Given the description of an element on the screen output the (x, y) to click on. 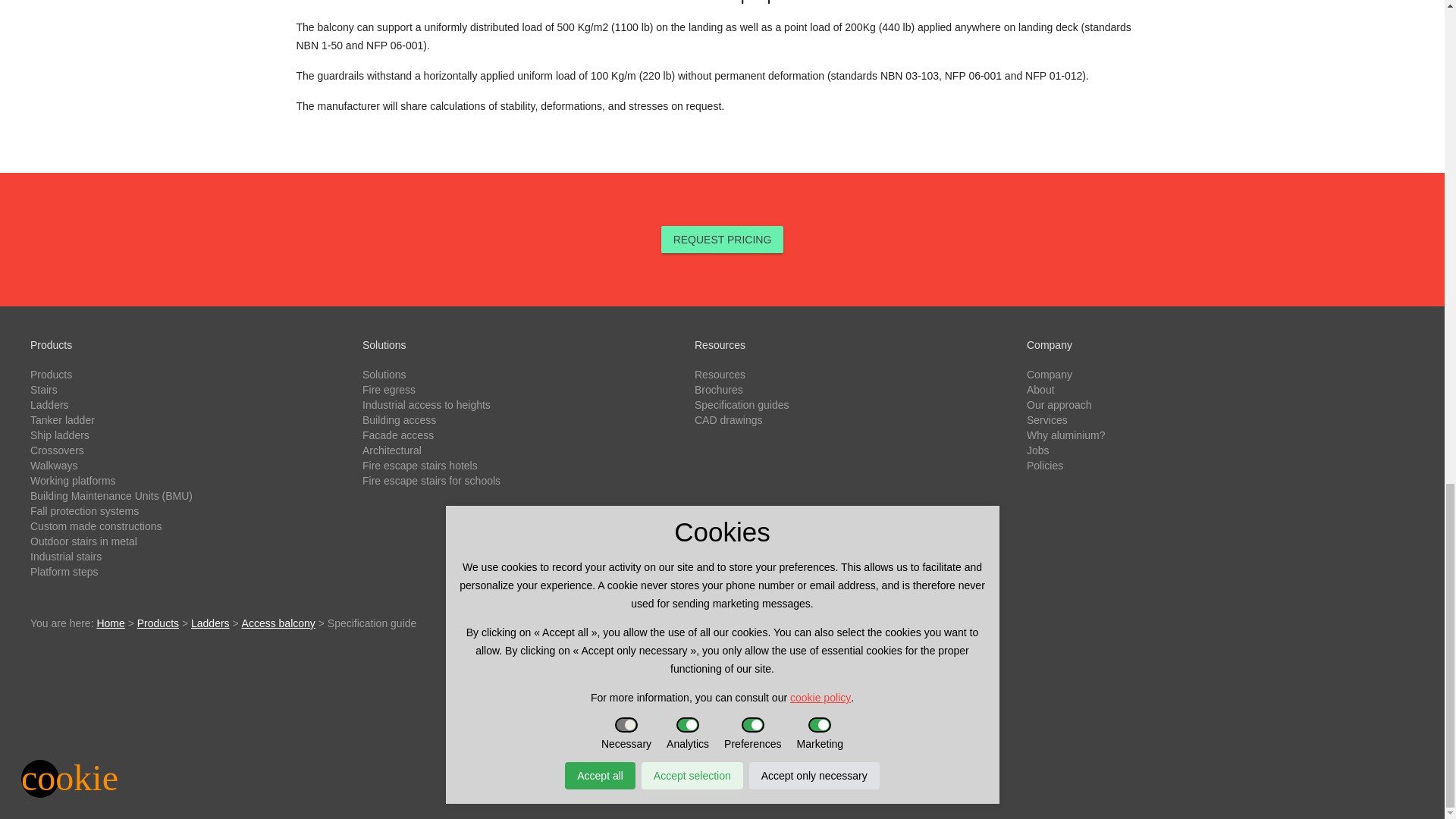
Walkways (54, 465)
REQUEST PRICING (722, 238)
Tanker ladder (62, 419)
Ladders (49, 404)
Fire escape stairs hotels (419, 465)
Industrial access to heights (426, 404)
Architectural (392, 450)
REQUEST PRICING (722, 239)
Industrial stairs (65, 556)
Products (50, 374)
